Given the description of an element on the screen output the (x, y) to click on. 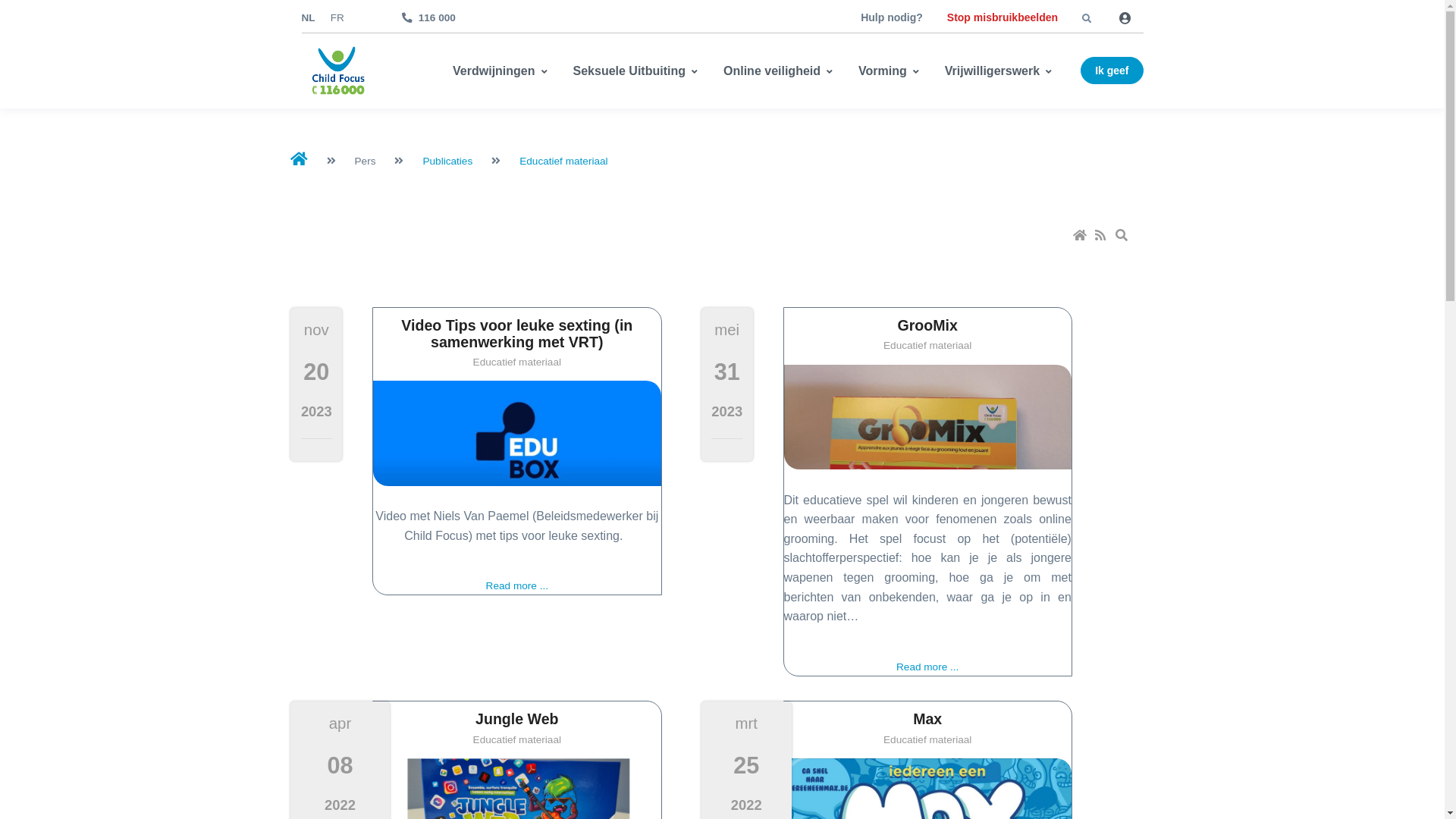
GrooMix Element type: hover (927, 417)
Home Element type: hover (1081, 235)
  Element type: text (1122, 235)
GrooMix Element type: text (927, 324)
Video Tips voor leuke sexting (in samenwerking met VRT) Element type: text (516, 332)
Read more ... Element type: text (517, 585)
Stop misbruikbeelden Element type: text (1002, 17)
Educatief materiaal Element type: text (563, 160)
RSS Element type: hover (1101, 235)
FR Element type: text (337, 17)
Verdwijningen Element type: text (507, 71)
Ik geef Element type: text (1111, 70)
Vorming Element type: text (892, 71)
Max Element type: text (927, 718)
Jungle Web Element type: text (516, 718)
Search Element type: hover (1122, 235)
Vrijwilligerswerk Element type: text (1001, 71)
Video Tips voor leuke sexting (in samenwerking met VRT)  Element type: hover (516, 433)
Publicaties Element type: text (447, 160)
Online veiligheid Element type: text (781, 71)
  Element type: text (1101, 235)
Read more ... Element type: text (927, 666)
116 000 Element type: text (428, 17)
Seksuele Uitbuiting Element type: text (639, 71)
Hulp nodig? Element type: text (891, 17)
  Element type: text (1081, 235)
